Given the description of an element on the screen output the (x, y) to click on. 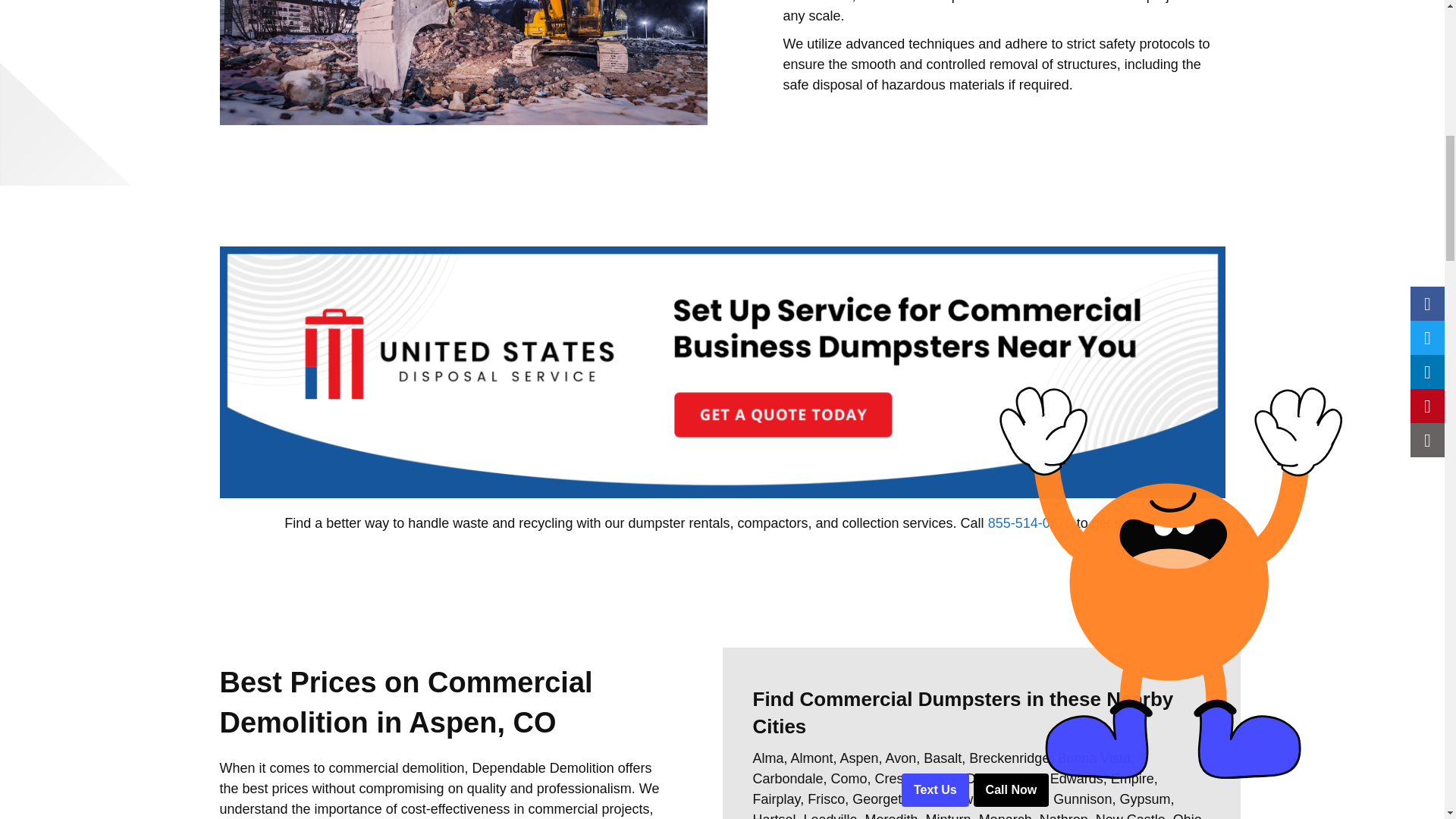
demolition (463, 62)
855-514-0570 (1030, 522)
